Given the description of an element on the screen output the (x, y) to click on. 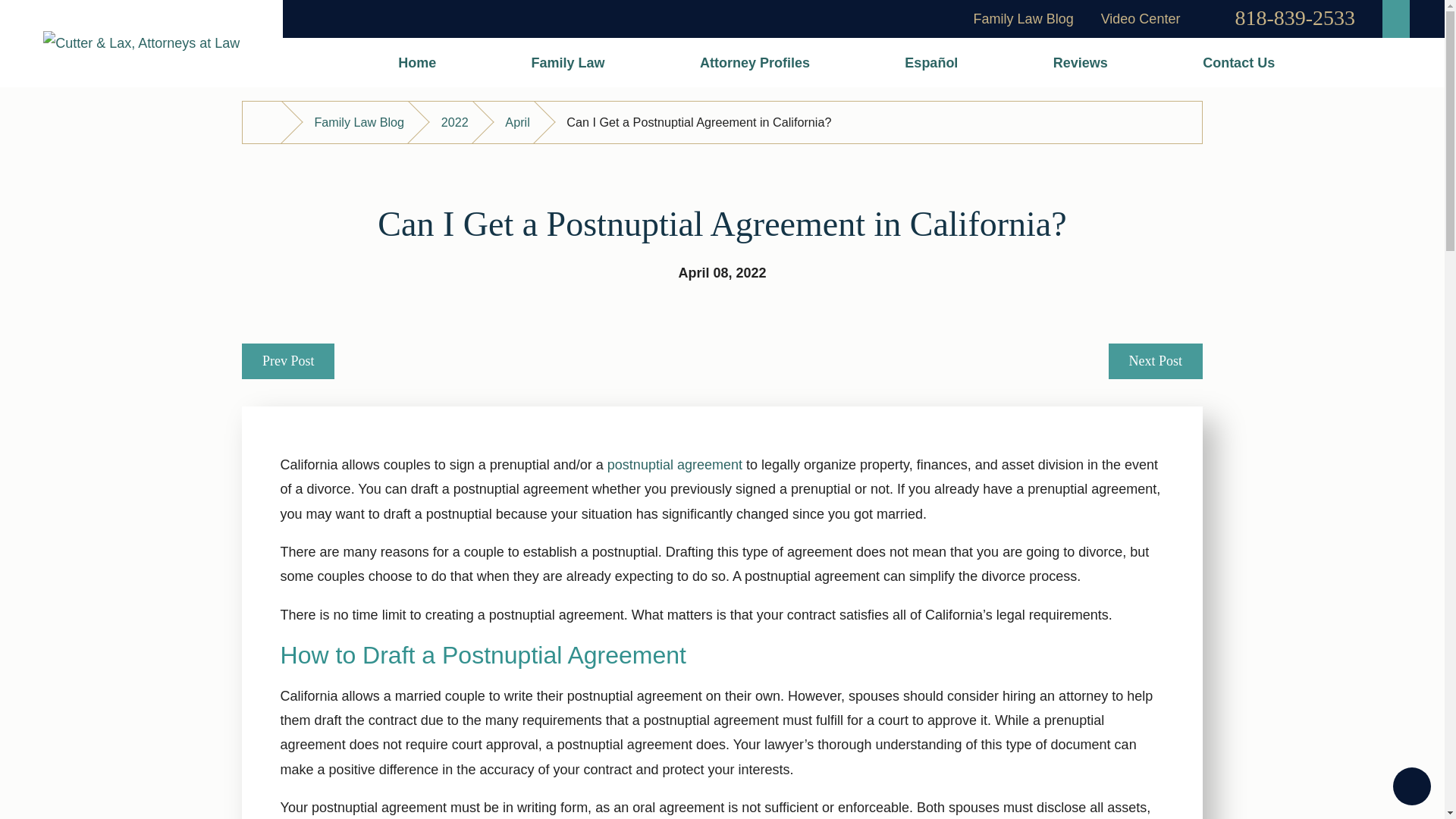
Home (416, 61)
818-839-2533 (1294, 17)
Go Home (269, 122)
Reviews (1080, 61)
Attorney Profiles (754, 61)
Family Law Blog (1024, 18)
Search Icon (1396, 16)
Video Center (1140, 18)
Open the accessibility options menu (1412, 786)
Family Law (567, 61)
